Given the description of an element on the screen output the (x, y) to click on. 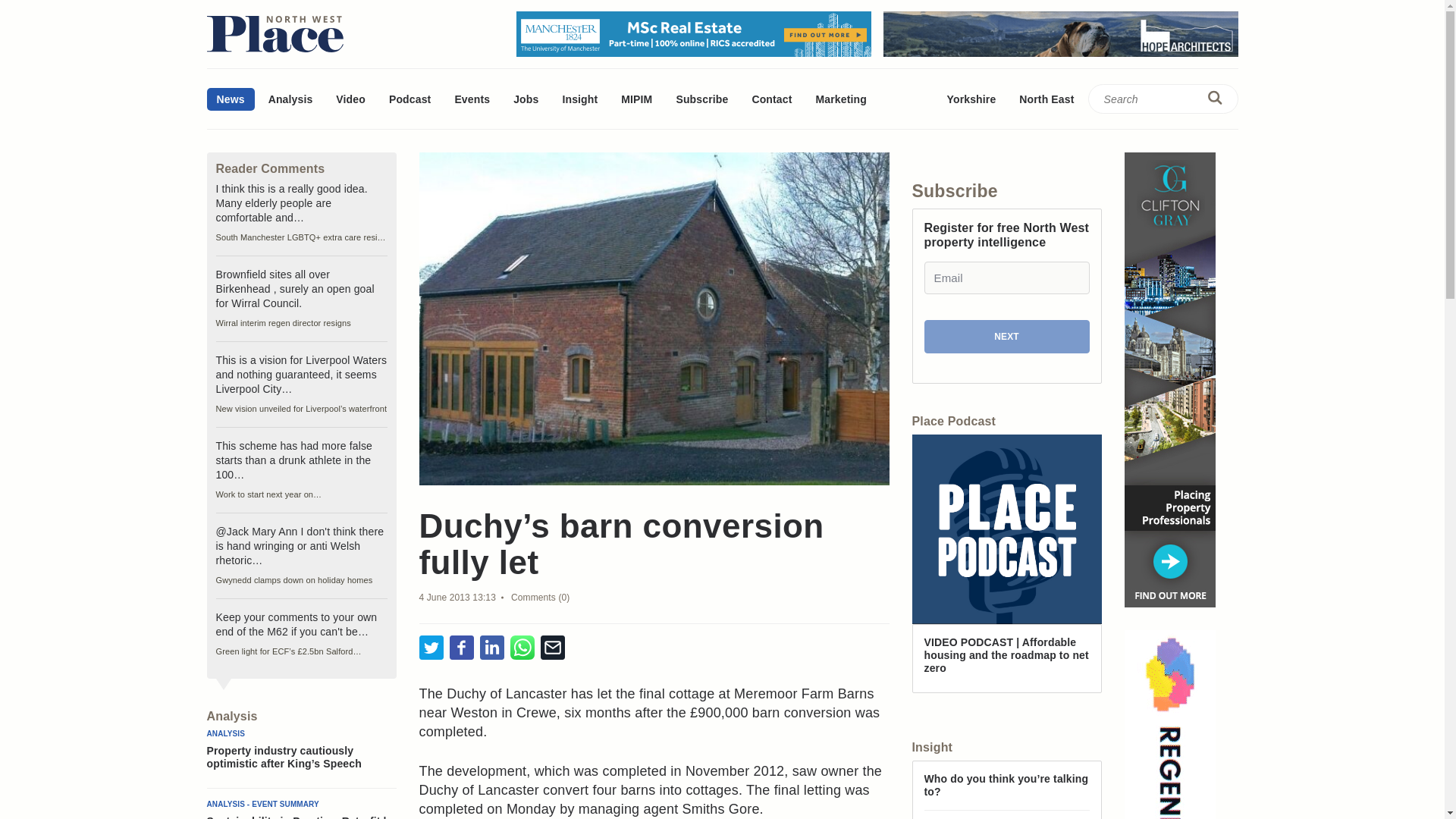
Events (471, 98)
Next (1006, 336)
Subscribe (701, 98)
North East (1046, 98)
News (229, 98)
Podcast (409, 98)
Share on Twiiter (430, 648)
Analysis (291, 98)
Contact (771, 98)
Marketing (840, 98)
Video (350, 98)
MIPIM (636, 98)
Share on Facebook (460, 648)
Share on LinkedIn (491, 648)
